Given the description of an element on the screen output the (x, y) to click on. 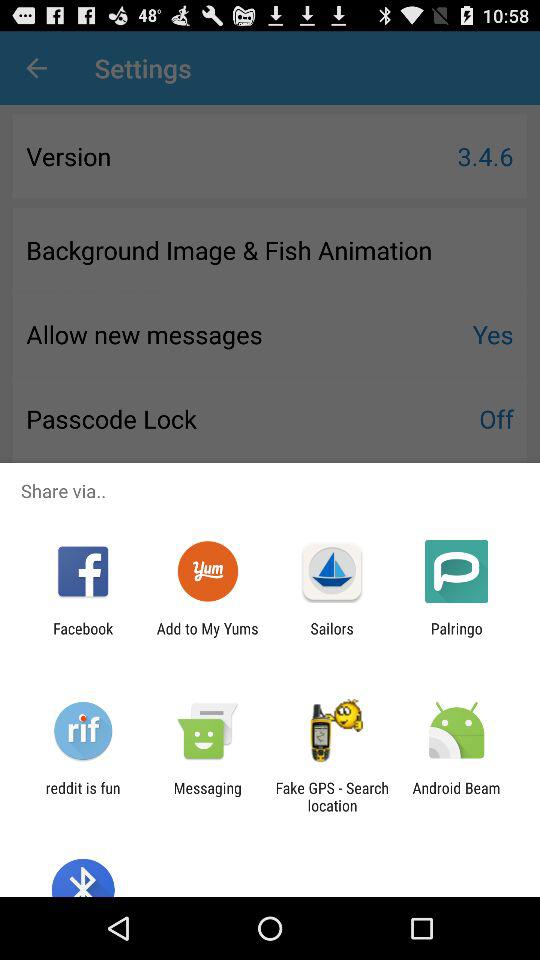
flip to the fake gps search app (332, 796)
